Given the description of an element on the screen output the (x, y) to click on. 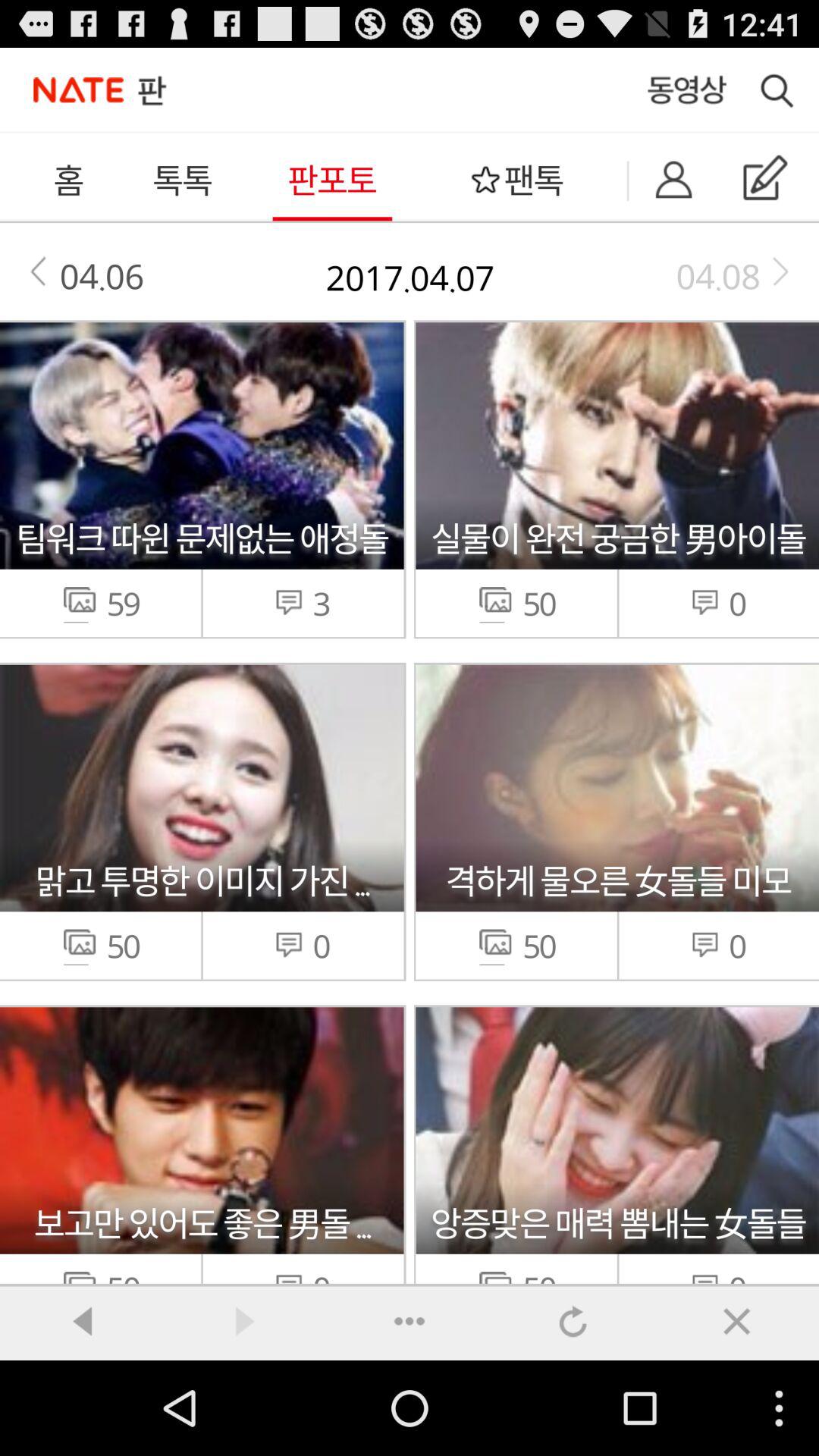
go to back (81, 1320)
